Given the description of an element on the screen output the (x, y) to click on. 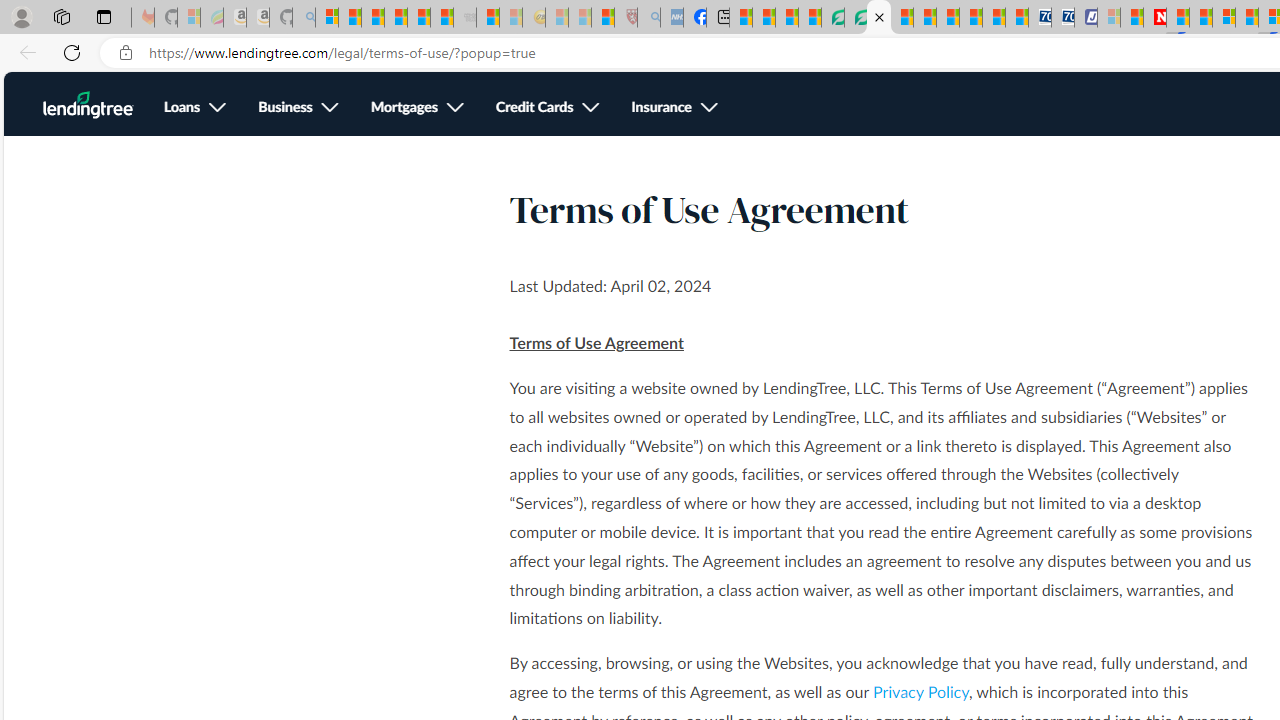
Combat Siege - Sleeping (465, 17)
Mortgages, see more (416, 107)
Terms of Use Agreement (878, 17)
Loans, see more (194, 107)
LendingTree - Compare Lenders (832, 17)
